Given the description of an element on the screen output the (x, y) to click on. 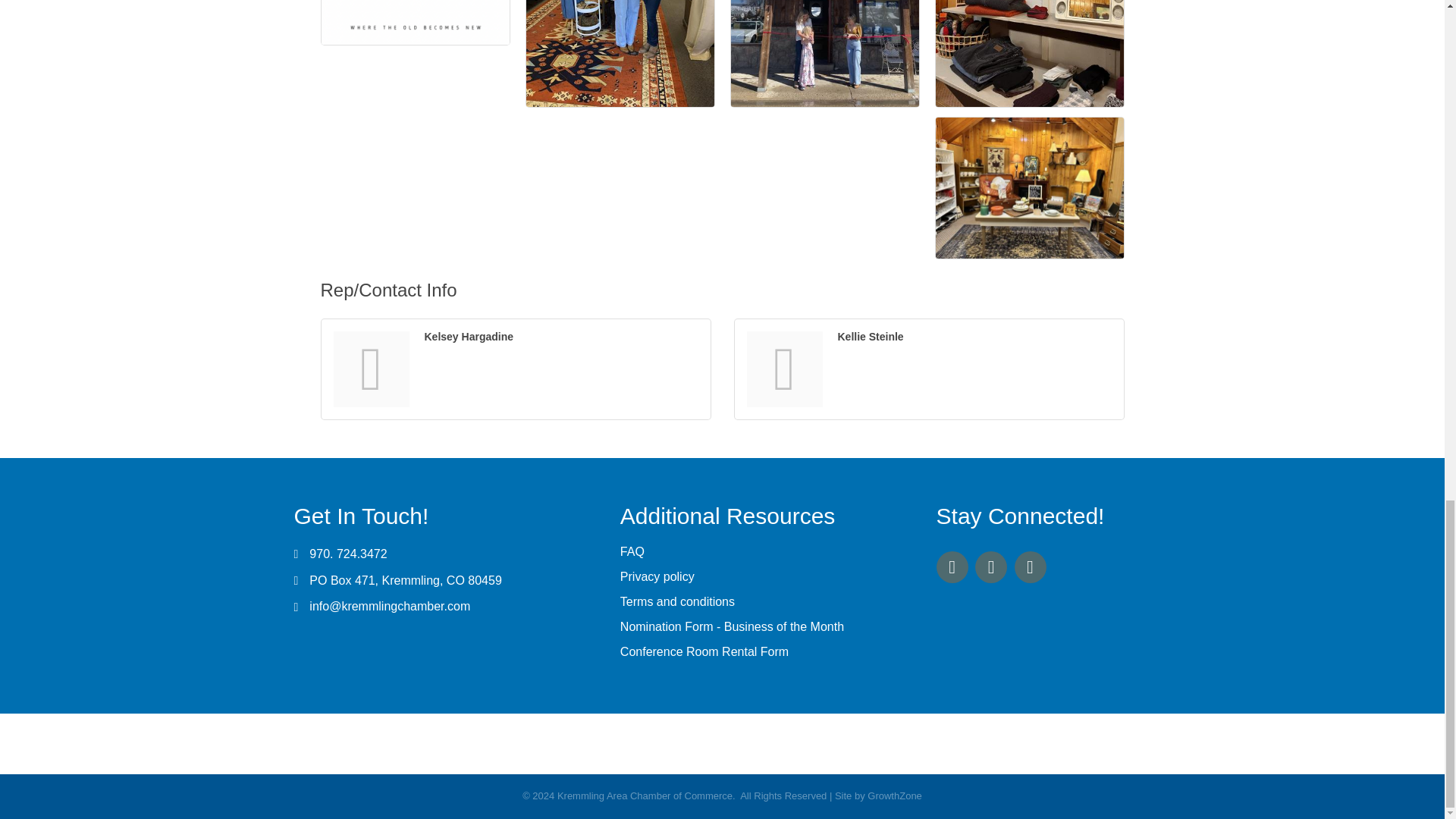
Gallery Image Tezza-4487.jpg (1030, 53)
